Given the description of an element on the screen output the (x, y) to click on. 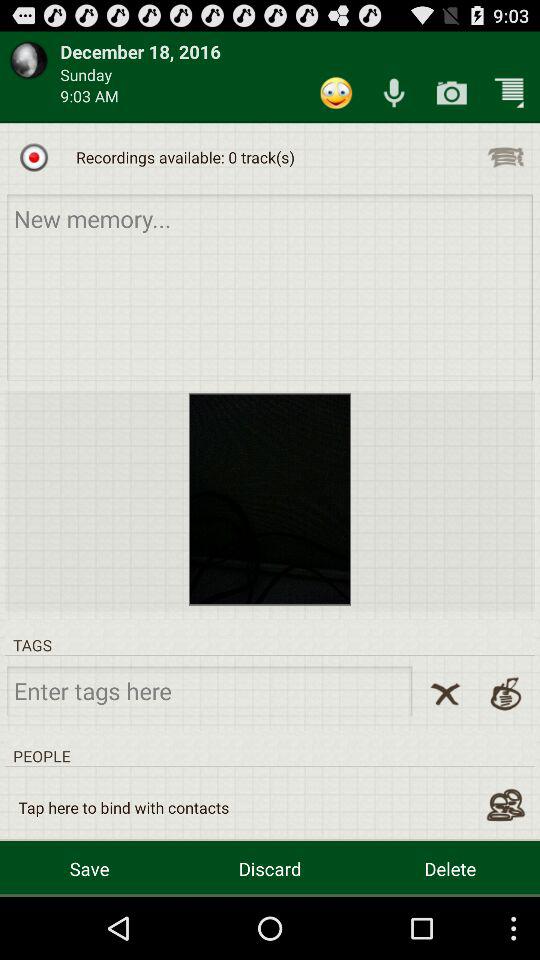
take photo (451, 92)
